Given the description of an element on the screen output the (x, y) to click on. 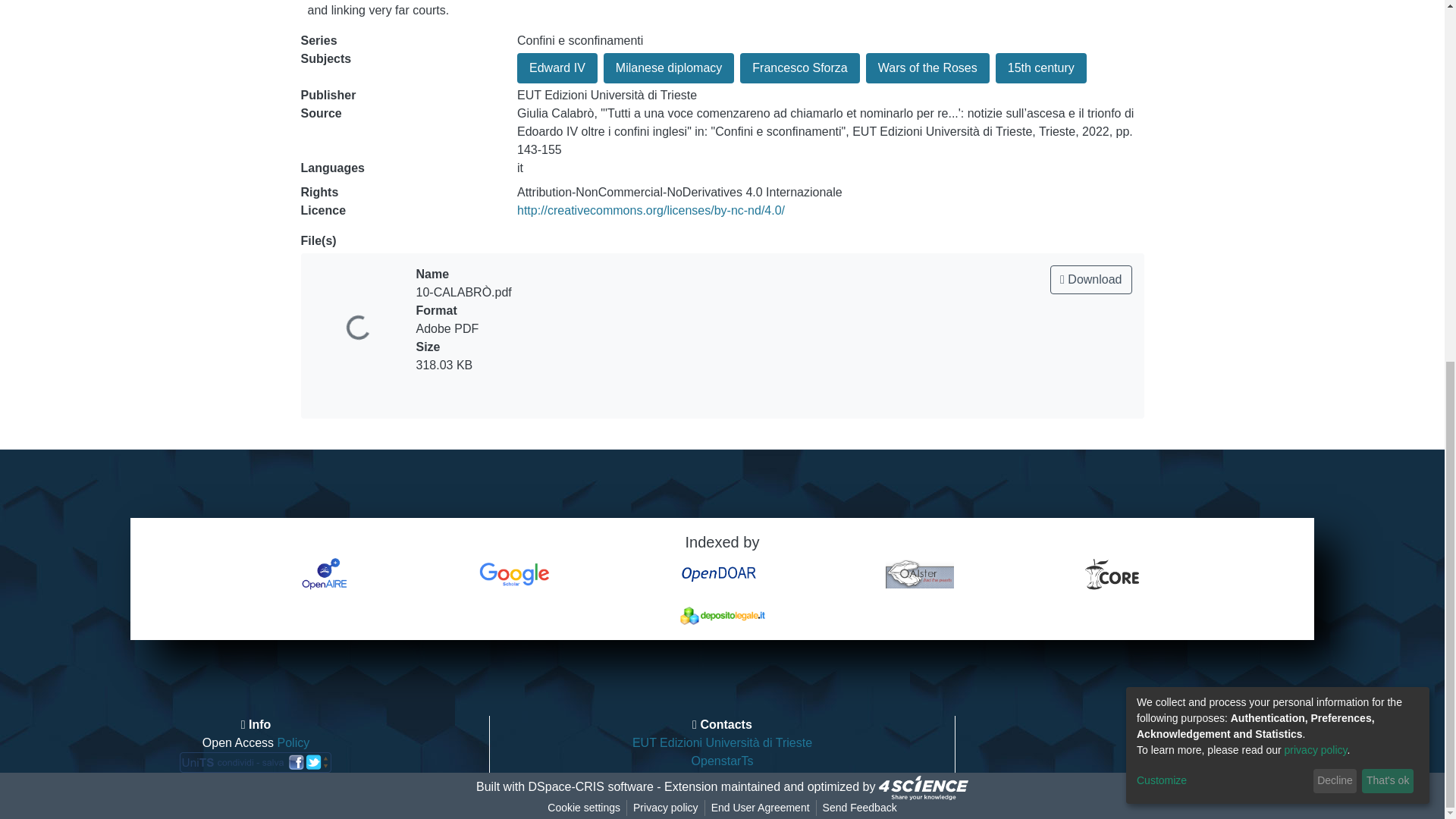
Milanese diplomacy (669, 68)
Edward IV (556, 68)
Francesco Sforza (799, 68)
